Given the description of an element on the screen output the (x, y) to click on. 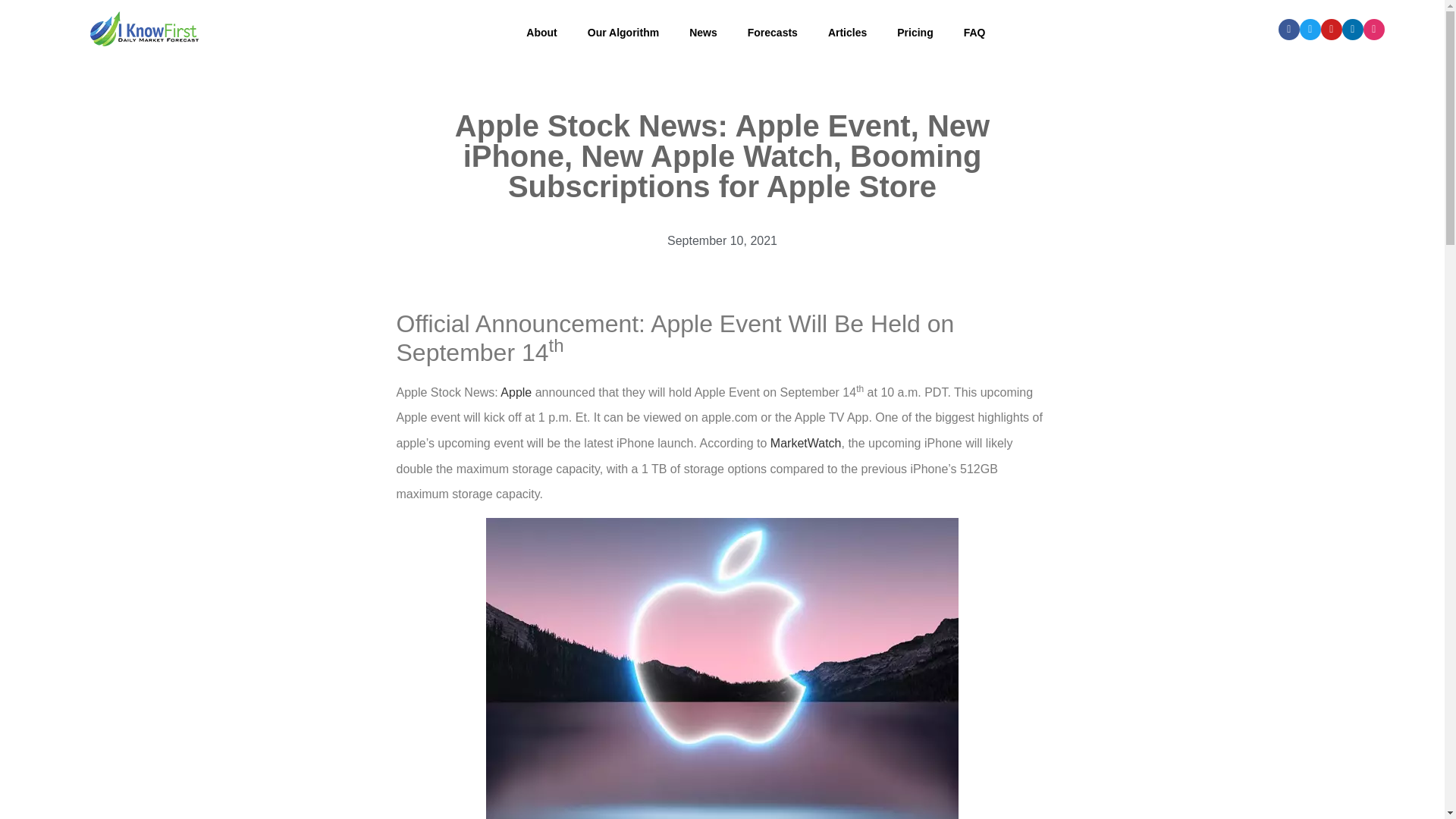
Pricing (914, 32)
FAQ (975, 32)
News (703, 32)
About (541, 32)
Forecasts (772, 32)
Our Algorithm (623, 32)
Articles (847, 32)
September 10, 2021 (721, 240)
